Given the description of an element on the screen output the (x, y) to click on. 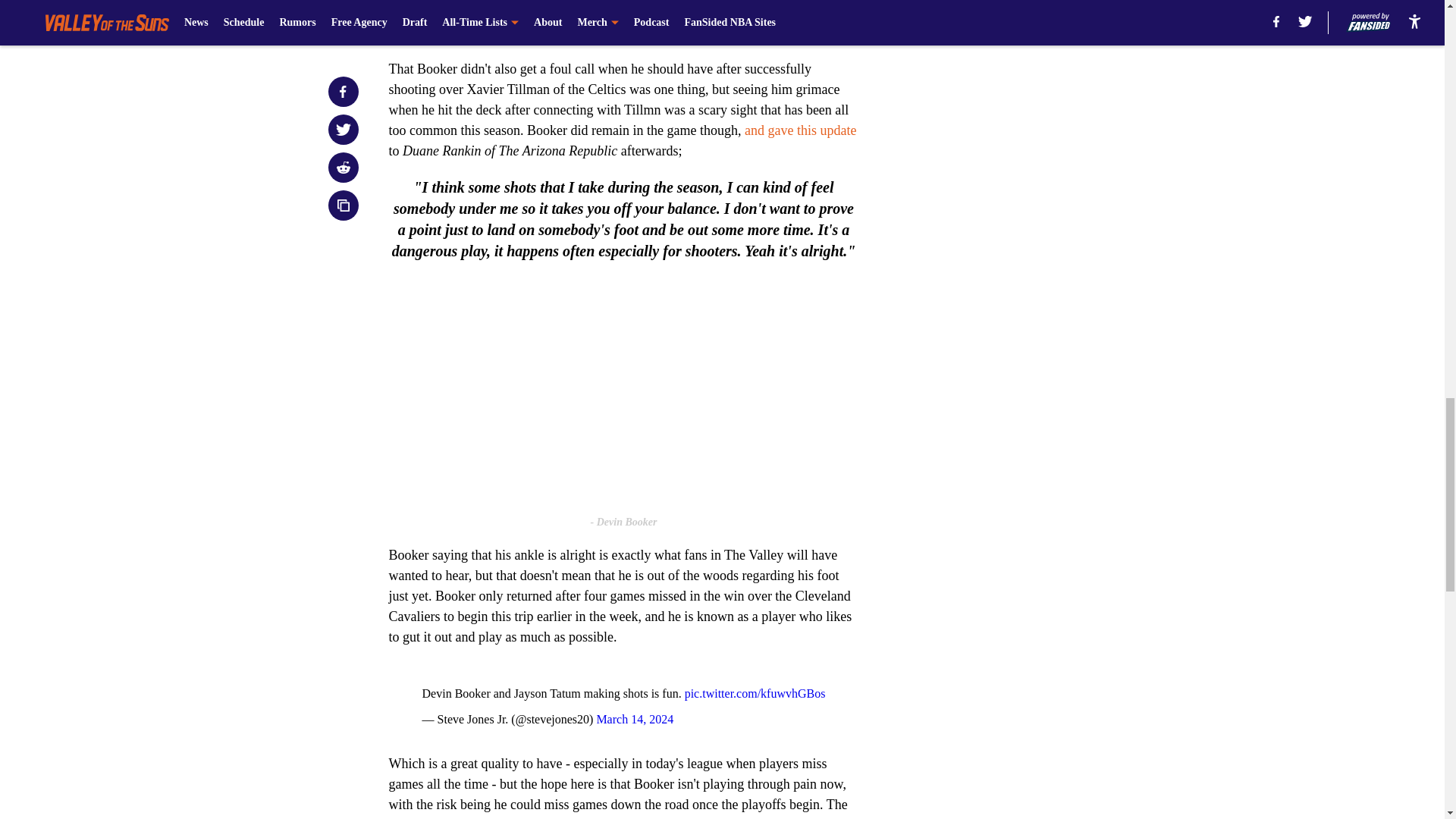
and gave this update (800, 130)
March 14, 2024 (633, 718)
